Given the description of an element on the screen output the (x, y) to click on. 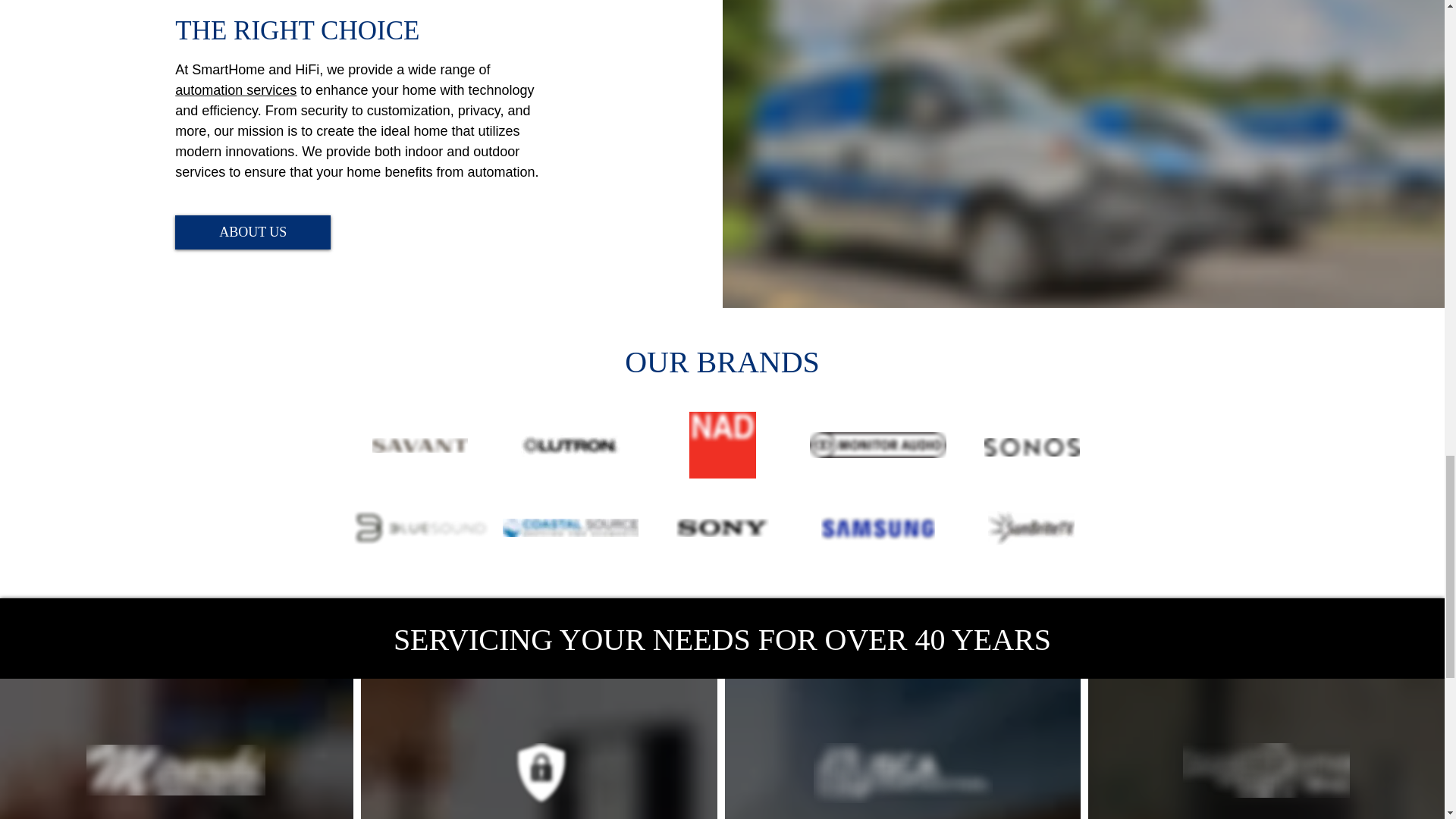
ABOUT US (252, 232)
automation services (235, 89)
